Given the description of an element on the screen output the (x, y) to click on. 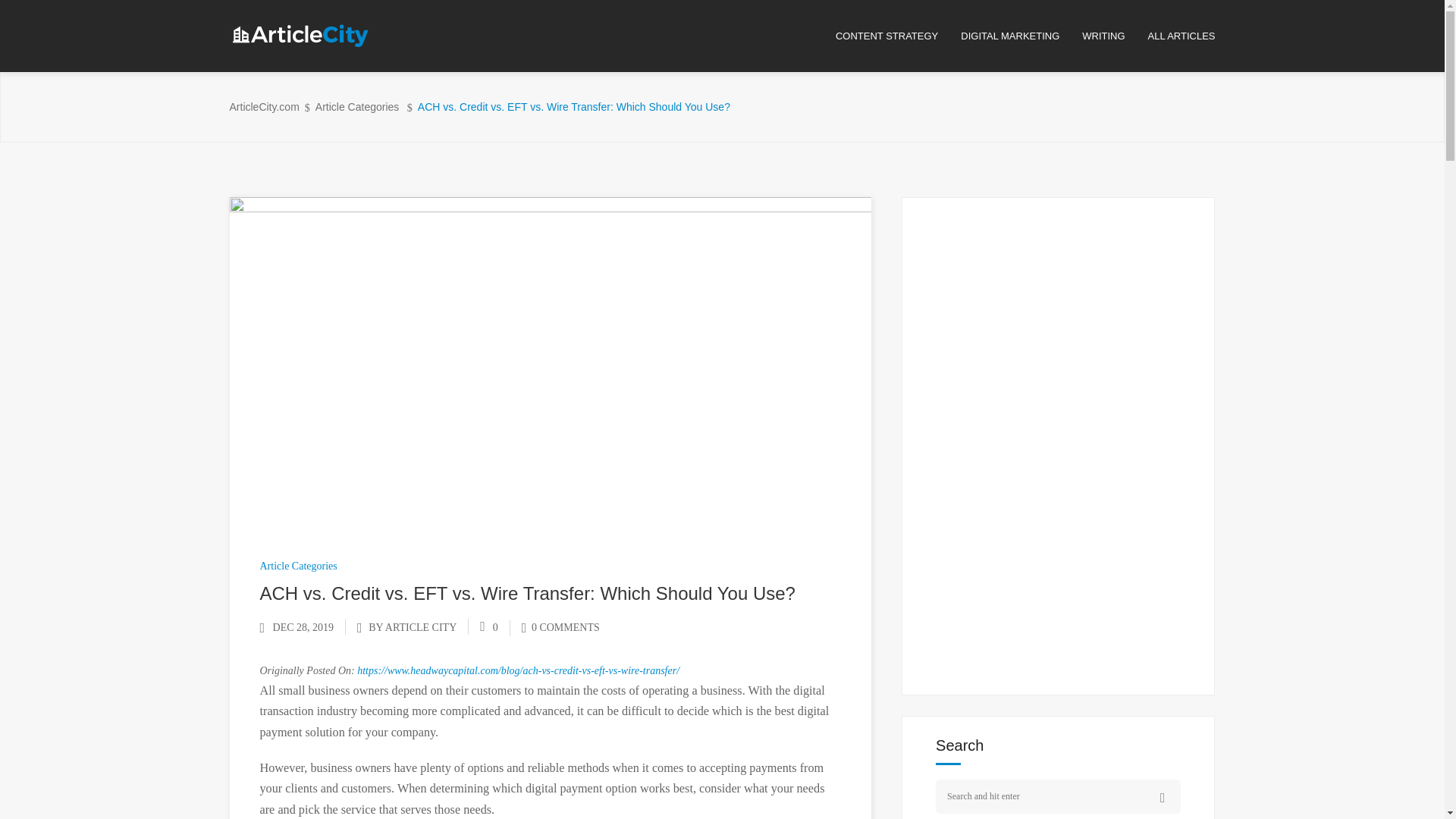
0 COMMENTS (560, 627)
CONTENT STRATEGY (897, 36)
Article Categories (297, 565)
Like this (488, 627)
ArticleCity.com (263, 107)
BY ARTICLE CITY (412, 627)
WRITING (1114, 36)
Article Categories (356, 107)
ALL ARTICLES (1181, 36)
0 (488, 627)
DIGITAL MARKETING (1020, 36)
